Given the description of an element on the screen output the (x, y) to click on. 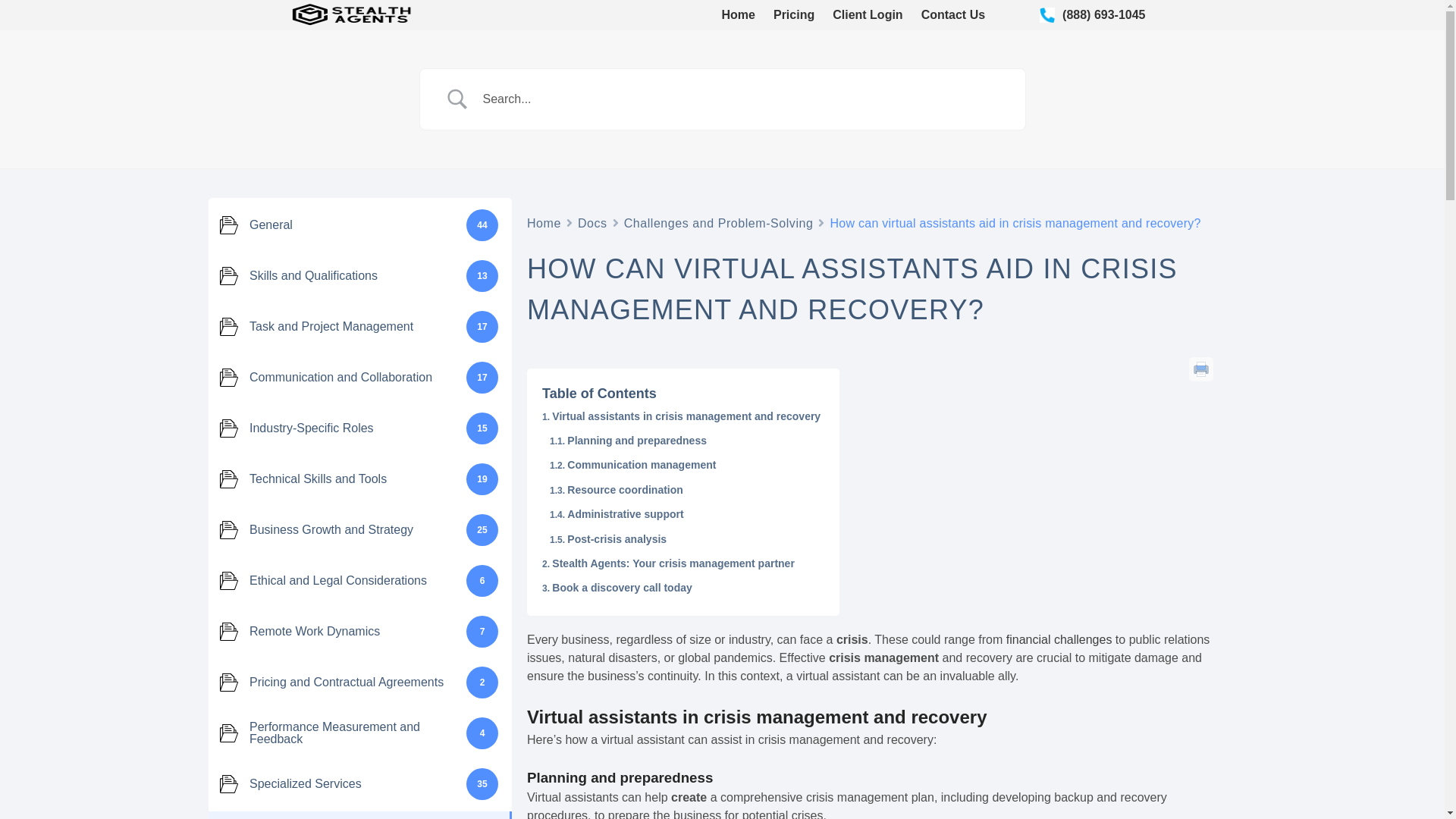
Contact Us (953, 15)
Home (738, 15)
Docs (592, 222)
Home (543, 222)
Pricing (793, 15)
Client Login (867, 15)
Stealth Agents (466, 24)
Challenges and Problem-Solving (718, 222)
